Given the description of an element on the screen output the (x, y) to click on. 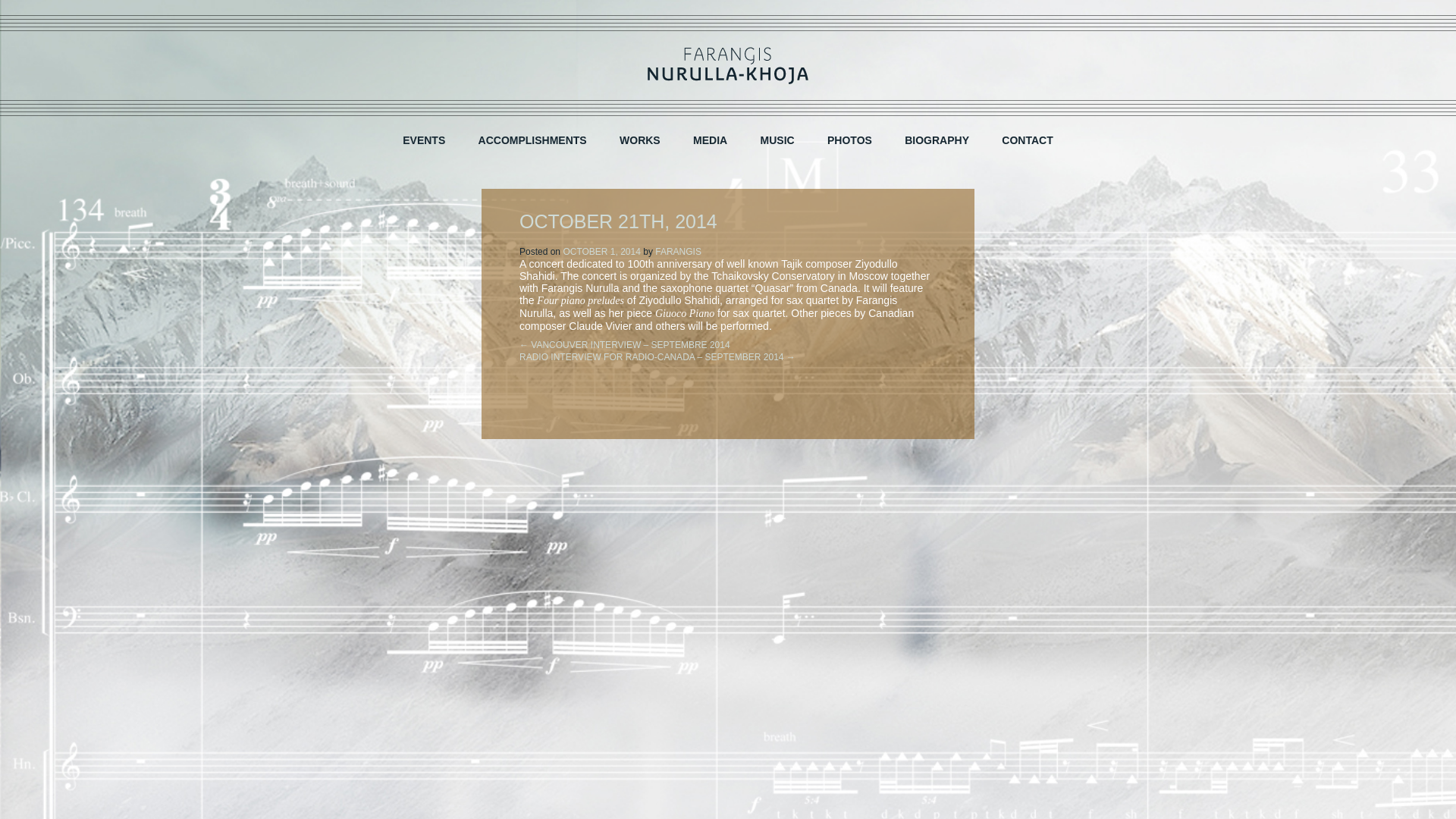
Farangis Nurulla-Khoja (727, 65)
EVENTS (423, 140)
ACCOMPLISHMENTS (532, 140)
Farangis Nurulla-Khoja (727, 65)
MEDIA (710, 140)
View all posts by farangis (678, 251)
CONTACT (1026, 140)
WORKS (639, 140)
16:47 (601, 251)
BIOGRAPHY (936, 140)
PHOTOS (849, 140)
MUSIC (777, 140)
OCTOBER 1, 2014 (601, 251)
FARANGIS (678, 251)
